Given the description of an element on the screen output the (x, y) to click on. 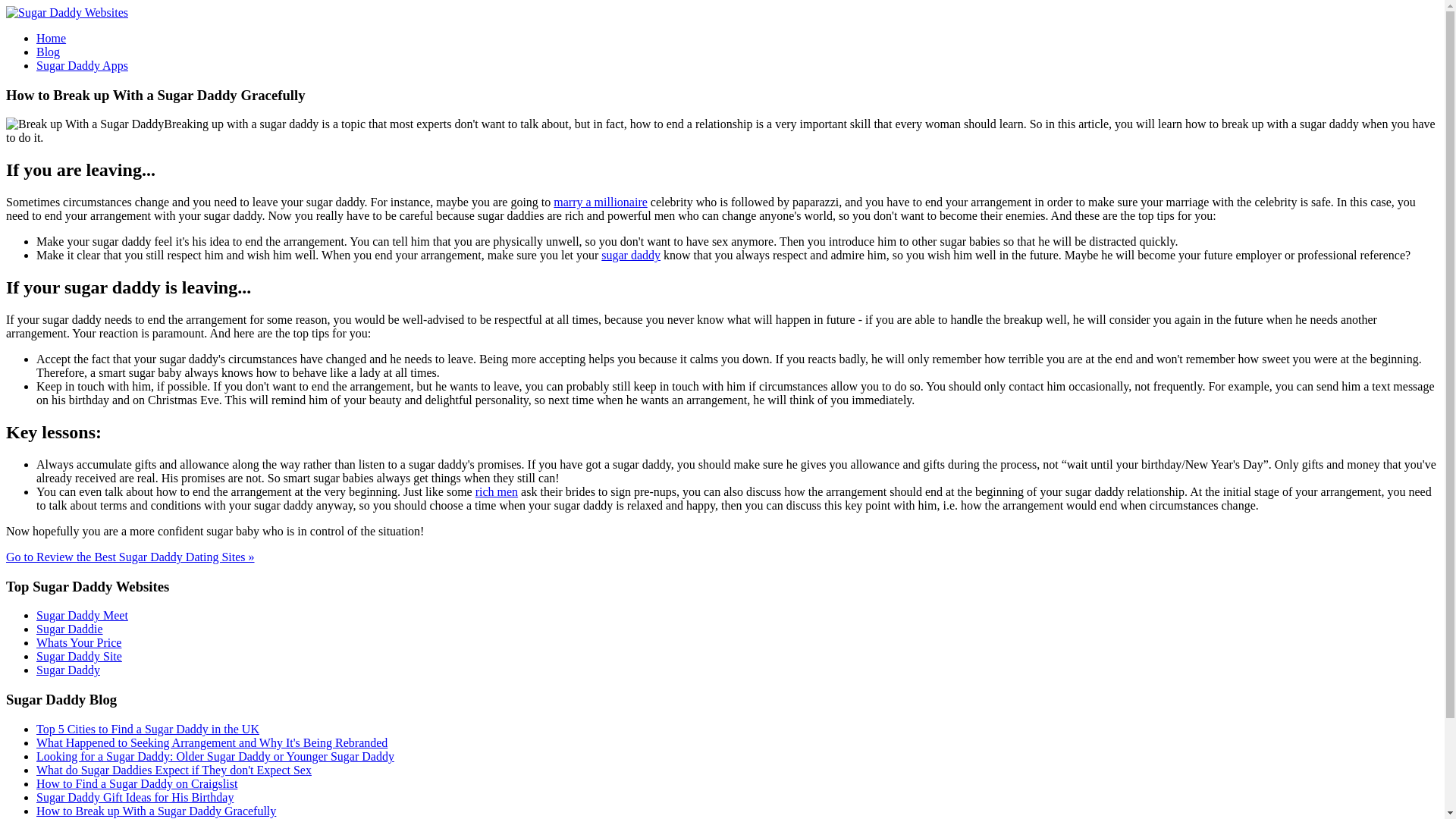
Sugar Daddy (68, 669)
Sugar Daddy Apps (82, 65)
rich men (497, 491)
Top 5 Cities to Find a Sugar Daddy in the UK (147, 728)
Blog (47, 51)
Sugar Daddy Gift Ideas for His Birthday (134, 797)
What do Sugar Daddies Expect if They don't Expect Sex (173, 769)
Sugar Daddy Site (79, 656)
sugar daddy (631, 254)
Sugar Daddy Meet (82, 615)
Whats Your Price (78, 642)
How to Find a Sugar Daddy on Craigslist (136, 783)
